Given the description of an element on the screen output the (x, y) to click on. 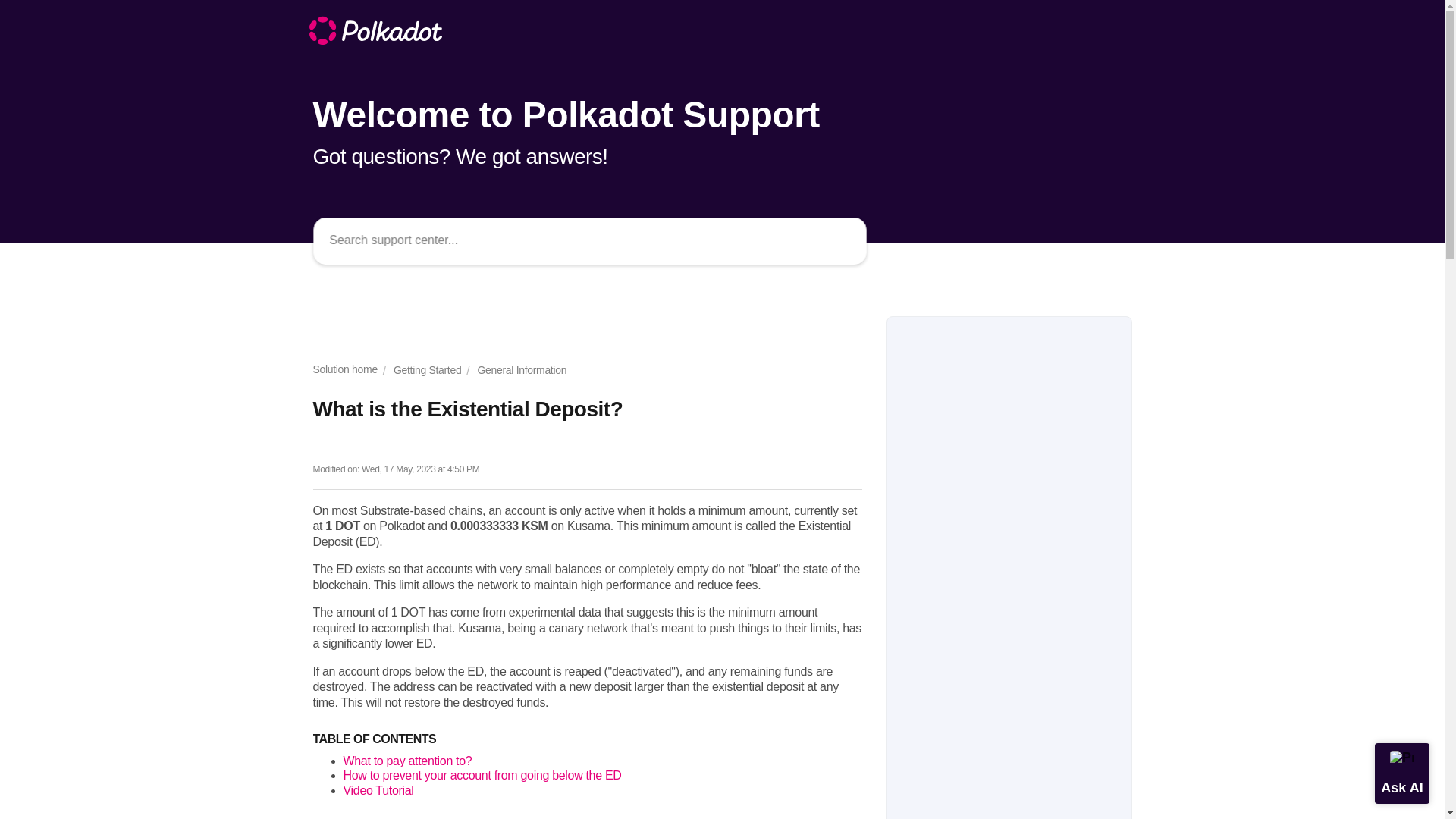
Ask AI (1401, 772)
General Information (515, 370)
What to pay attention to? (406, 760)
Video Tutorial (377, 789)
Solution home (345, 370)
How to prevent your account from going below the ED (481, 775)
Getting Started (421, 370)
